Given the description of an element on the screen output the (x, y) to click on. 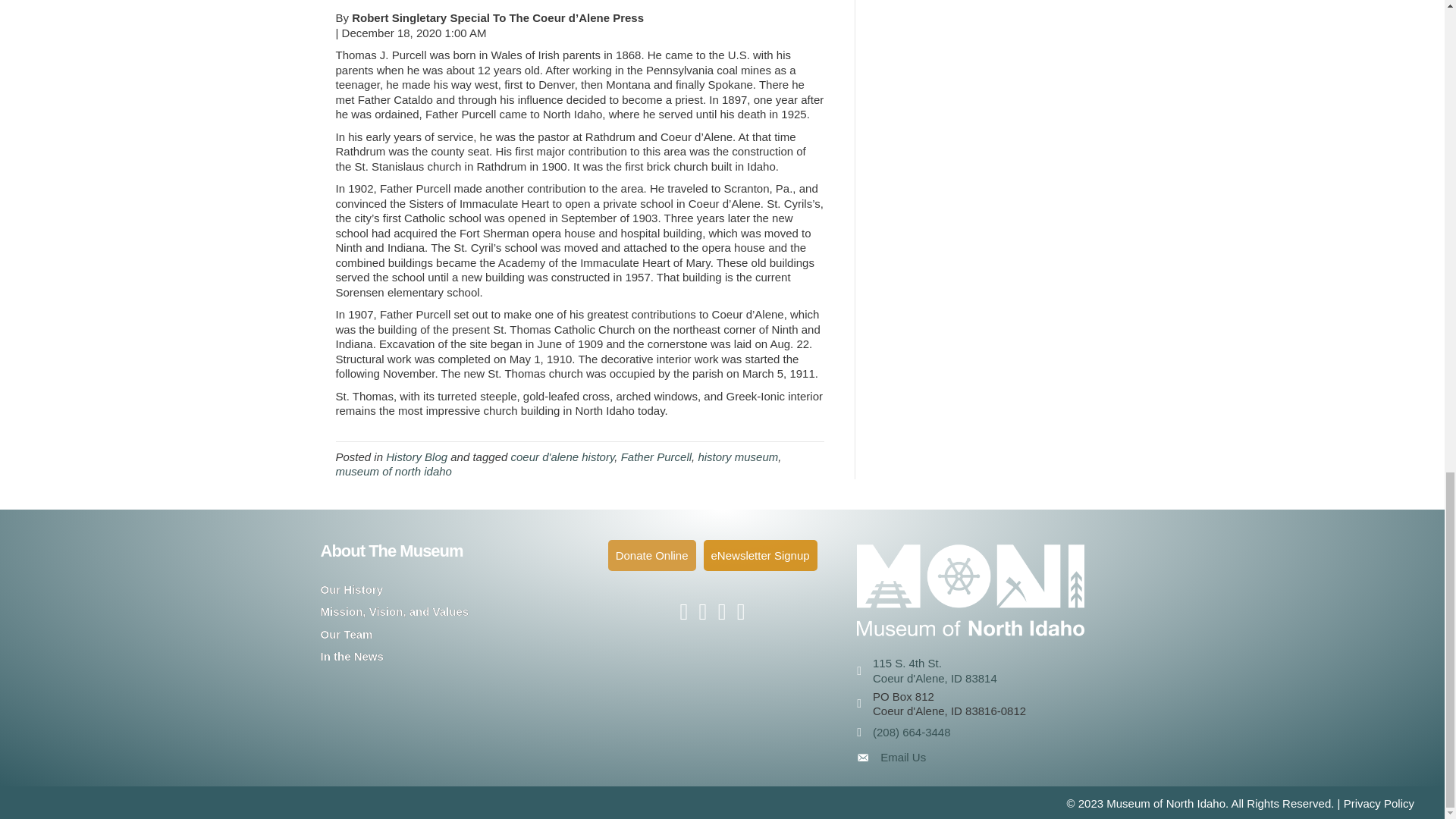
history museum (737, 456)
coeur d'alene history (562, 456)
Our History (351, 589)
Father Purcell (656, 456)
museum of north idaho (392, 471)
Untitled design (970, 589)
History Blog (415, 456)
